Given the description of an element on the screen output the (x, y) to click on. 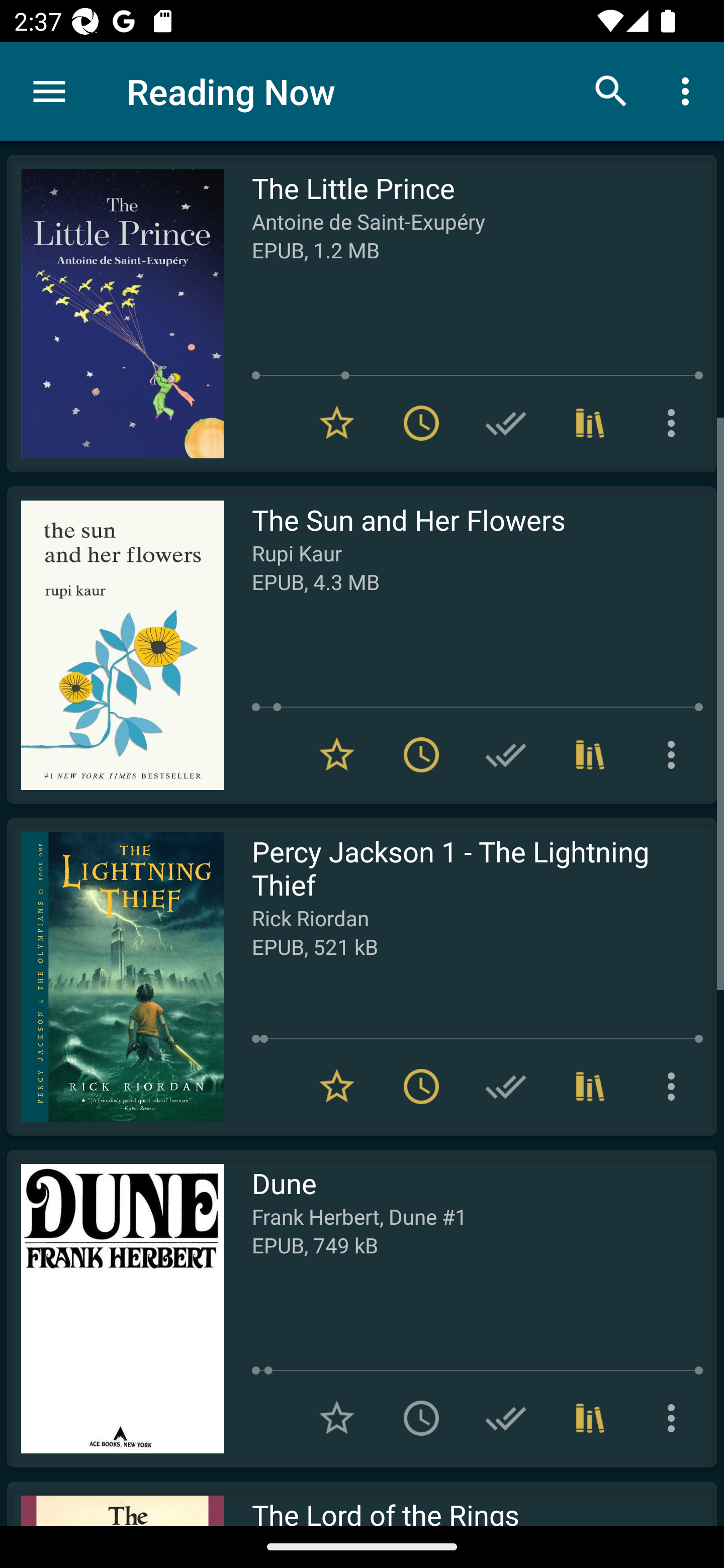
Menu (49, 91)
Search books & documents (611, 90)
More options (688, 90)
Read The Little Prince (115, 313)
Remove from Favorites (336, 423)
Remove from To read (421, 423)
Add to Have read (505, 423)
Collections (1) (590, 423)
More options (674, 423)
Read The Sun and Her Flowers (115, 645)
Remove from Favorites (336, 753)
Remove from To read (421, 753)
Add to Have read (505, 753)
Collections (1) (590, 753)
More options (674, 753)
Read Percy Jackson 1 - The Lightning Thief (115, 976)
Remove from Favorites (336, 1086)
Remove from To read (421, 1086)
Add to Have read (505, 1086)
Collections (1) (590, 1086)
More options (674, 1086)
Read Dune (115, 1308)
Add to Favorites (336, 1417)
Add to To read (421, 1417)
Add to Have read (505, 1417)
Collections (1) (590, 1417)
More options (674, 1417)
